Given the description of an element on the screen output the (x, y) to click on. 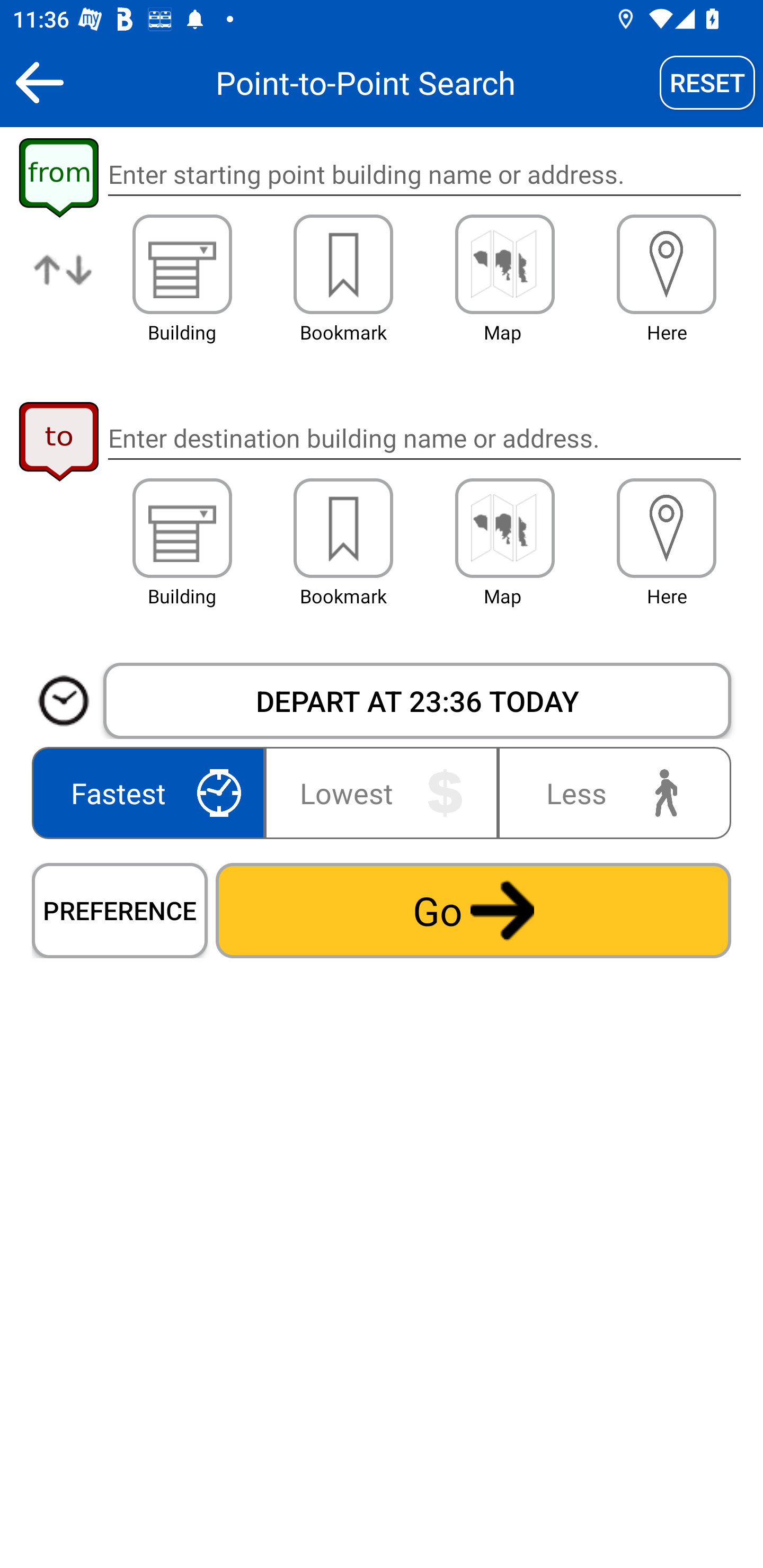
Back (39, 82)
RESET Reset (707, 81)
Enter starting point building name or address. (423, 174)
Building (181, 263)
Bookmarks (342, 263)
Select location on map (504, 263)
Here (666, 263)
Swap origin and destination (63, 284)
Enter destination building name or address. (423, 437)
Building (181, 528)
Bookmarks (342, 528)
Select location on map (504, 528)
Here (666, 528)
Lowest (381, 792)
Fastest selected (151, 792)
Less (610, 792)
PREFERENCE Preference (119, 910)
Go (472, 910)
